Given the description of an element on the screen output the (x, y) to click on. 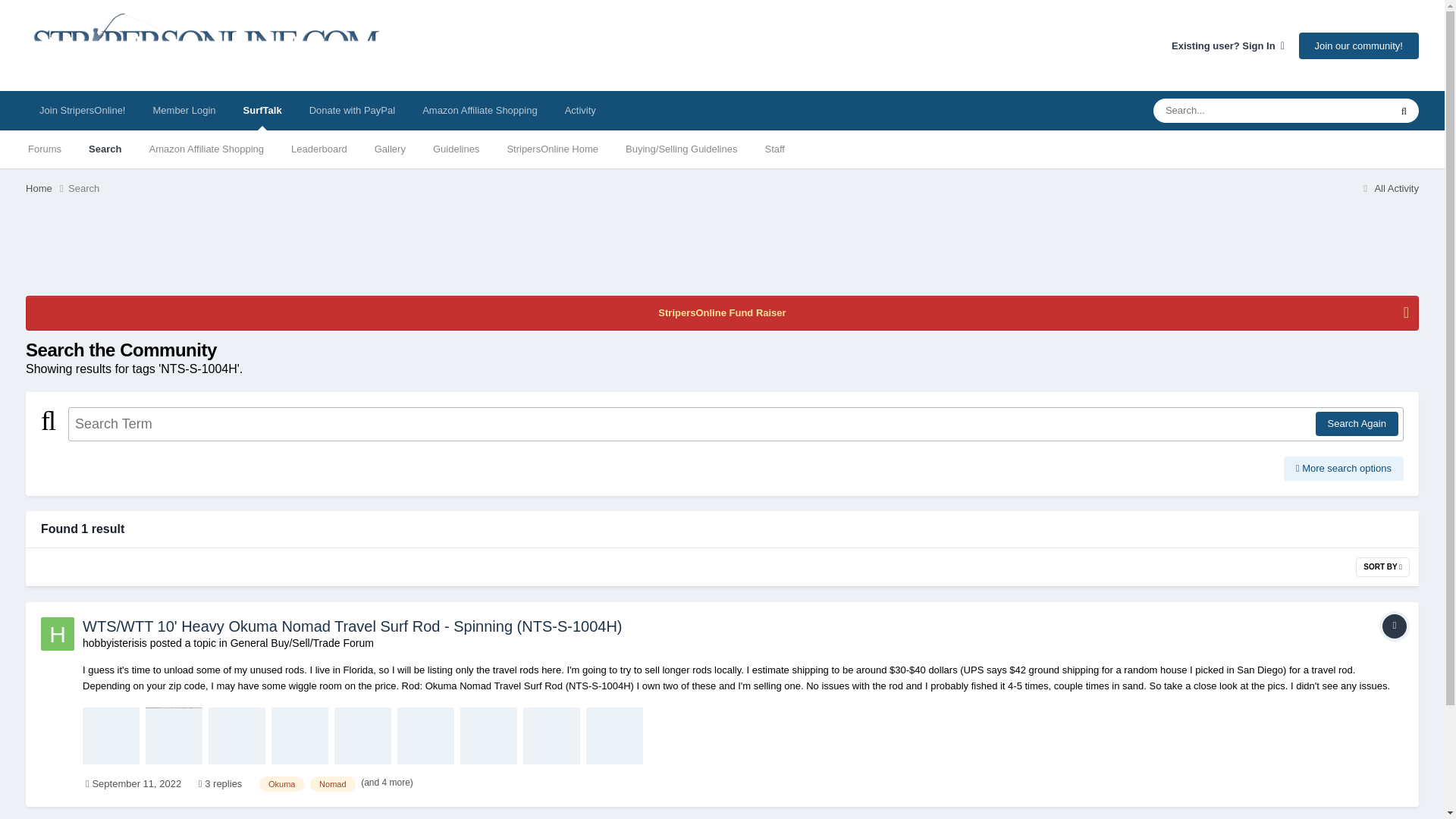
Donate with PayPal (352, 110)
Find other content tagged with 'Okuma' (281, 783)
All Activity (1388, 188)
Join our community! (1358, 44)
Member Login (184, 110)
Gallery (390, 149)
Amazon Affiliate Shopping (480, 110)
Existing user? Sign In   (1228, 45)
Leaderboard (319, 149)
Topic (1393, 626)
